Given the description of an element on the screen output the (x, y) to click on. 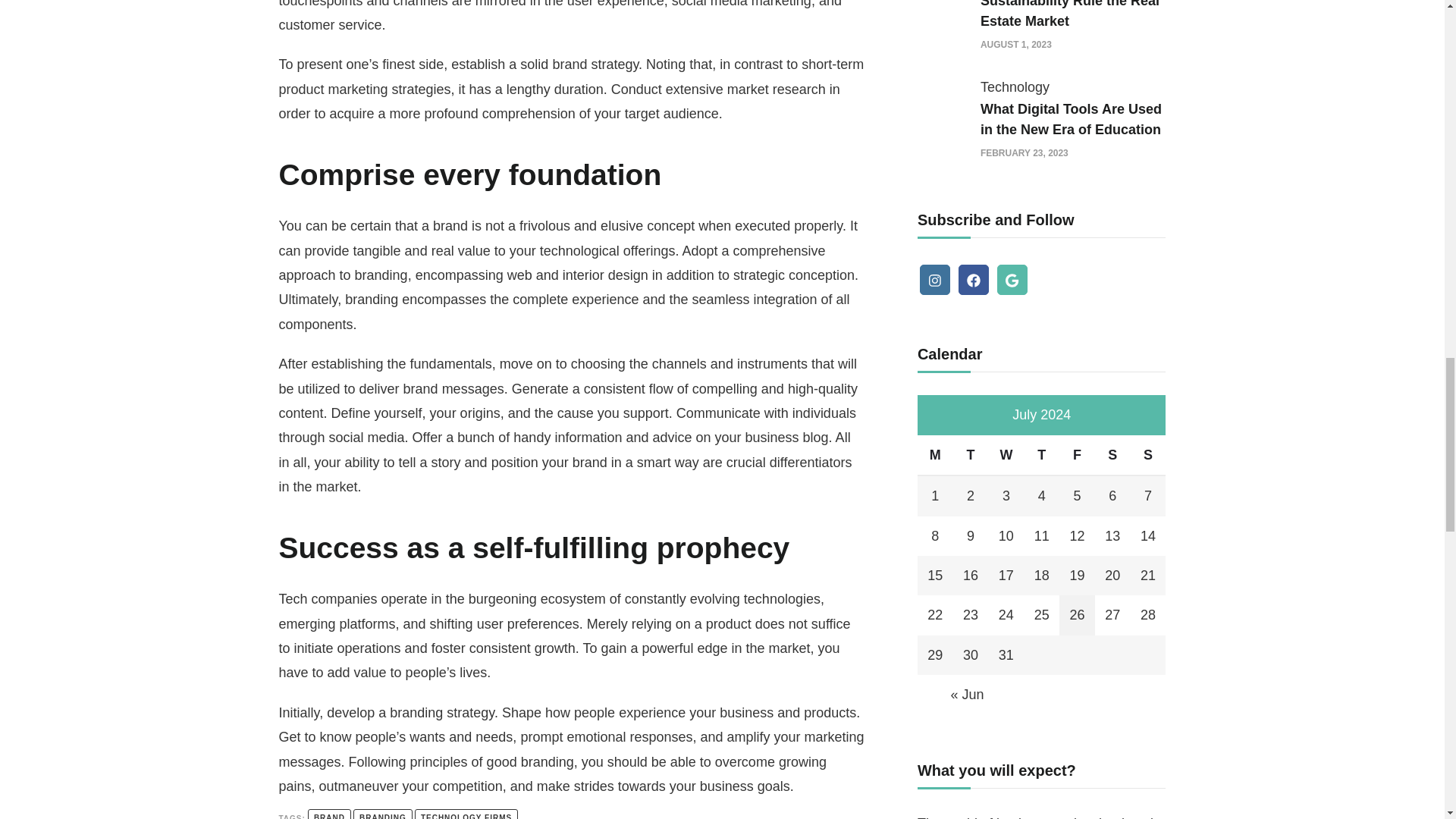
instagram (935, 279)
google (1012, 279)
BRANDING (382, 814)
TECHNOLOGY FIRMS (466, 814)
BRAND (328, 814)
facebook (973, 279)
